Given the description of an element on the screen output the (x, y) to click on. 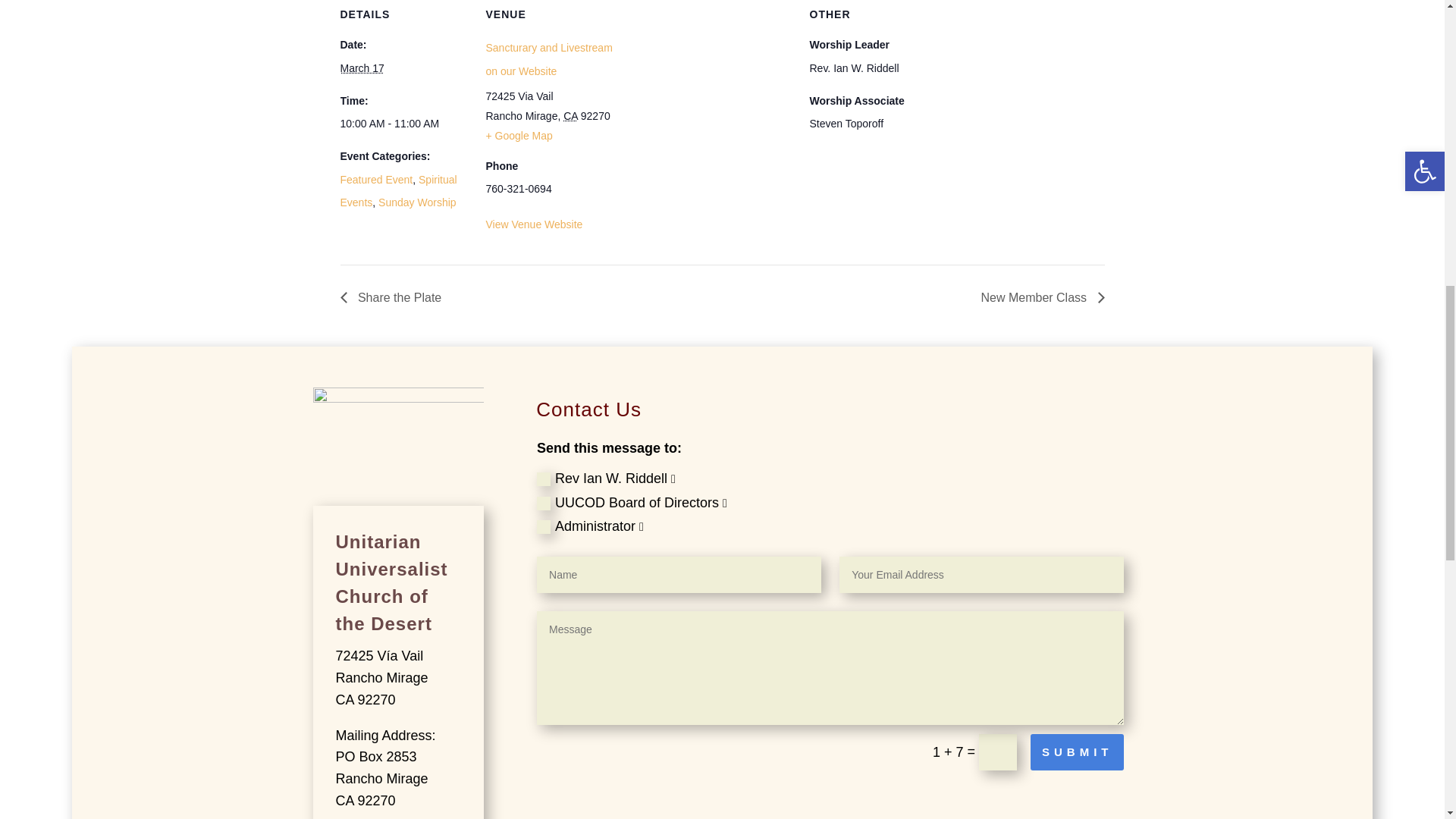
2024-03-17 (361, 68)
church at night 854x480 (398, 435)
Click to view a Google Map (517, 135)
California (570, 115)
Maximum length: 90 characters. (679, 574)
2024-03-17 (403, 123)
